Given the description of an element on the screen output the (x, y) to click on. 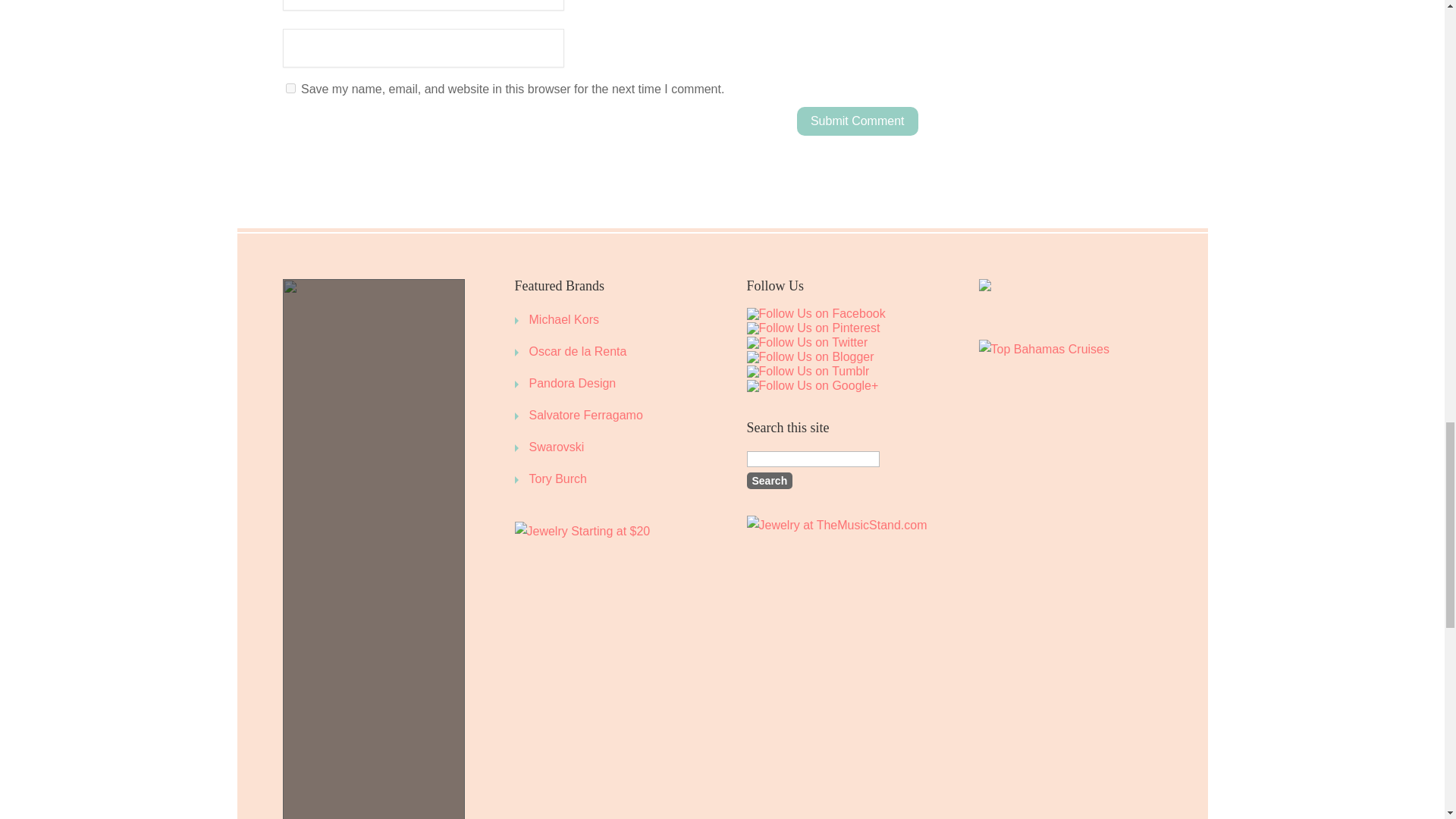
Submit Comment (857, 121)
Search (768, 480)
Follow Us on Twitter (806, 342)
Follow Us on Pinterest (812, 328)
Follow Us on Tumblr (807, 371)
Follow Us on Blogger (809, 357)
yes (290, 88)
Follow Us on Facebook (815, 313)
